Given the description of an element on the screen output the (x, y) to click on. 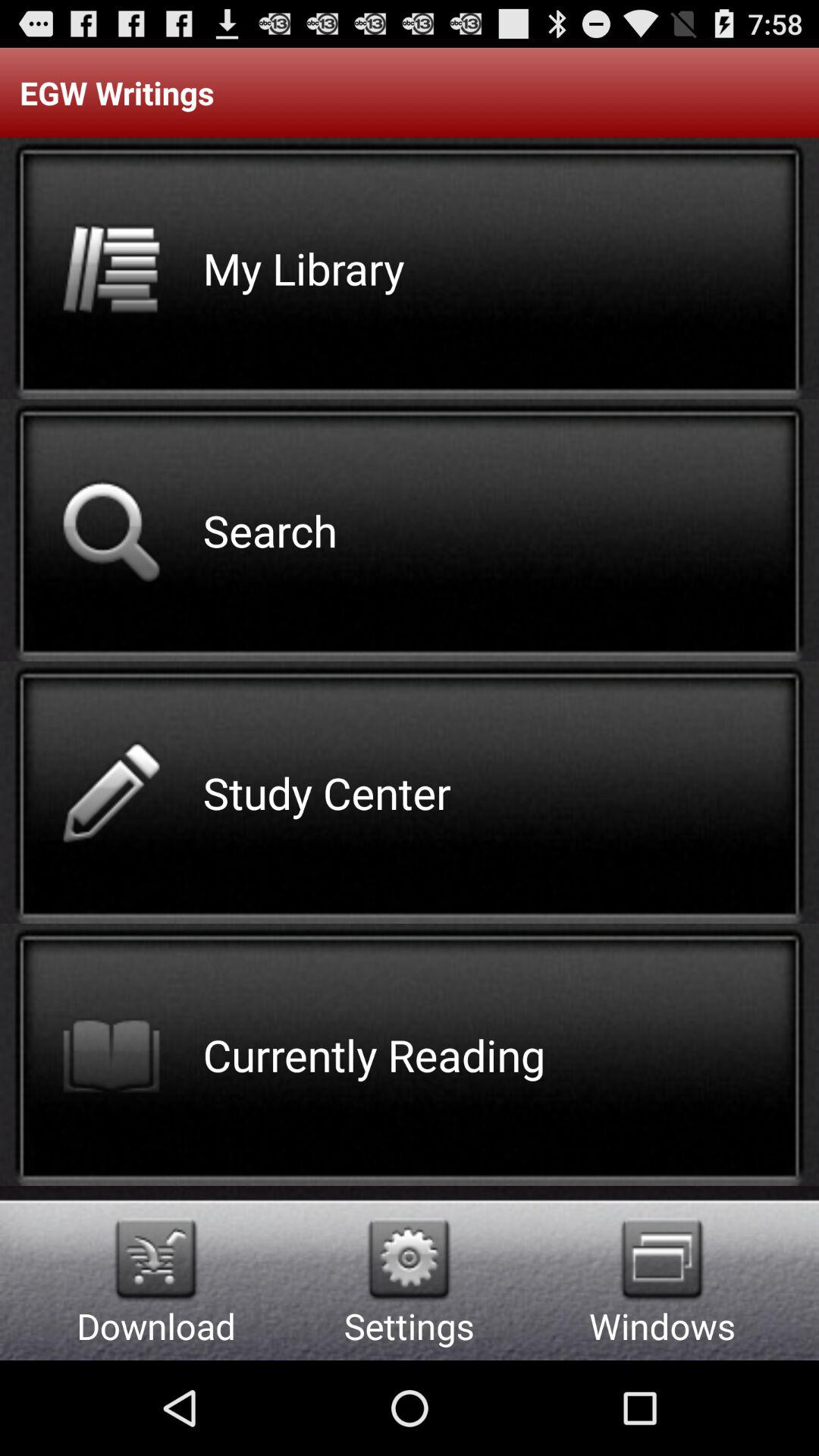
open settings (409, 1258)
